Given the description of an element on the screen output the (x, y) to click on. 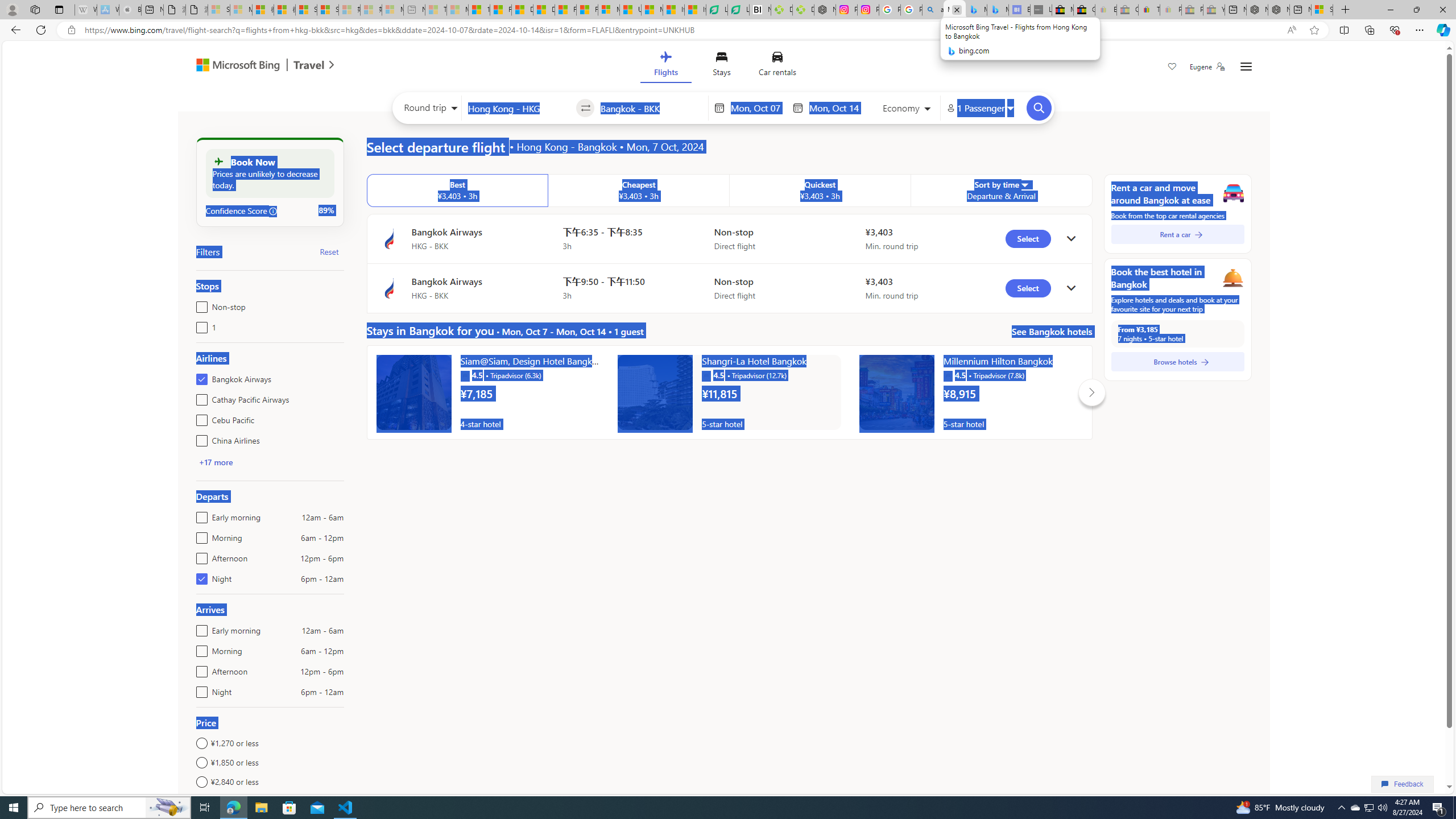
End date (836, 107)
Nordace - Summer Adventures 2024 (1278, 9)
Early morning12am - 6am (199, 628)
Reset (328, 251)
Microsoft Services Agreement - Sleeping (241, 9)
Swap source and destination (585, 108)
Eugene (1206, 66)
Threats and offensive language policy | eBay (1149, 9)
